Given the description of an element on the screen output the (x, y) to click on. 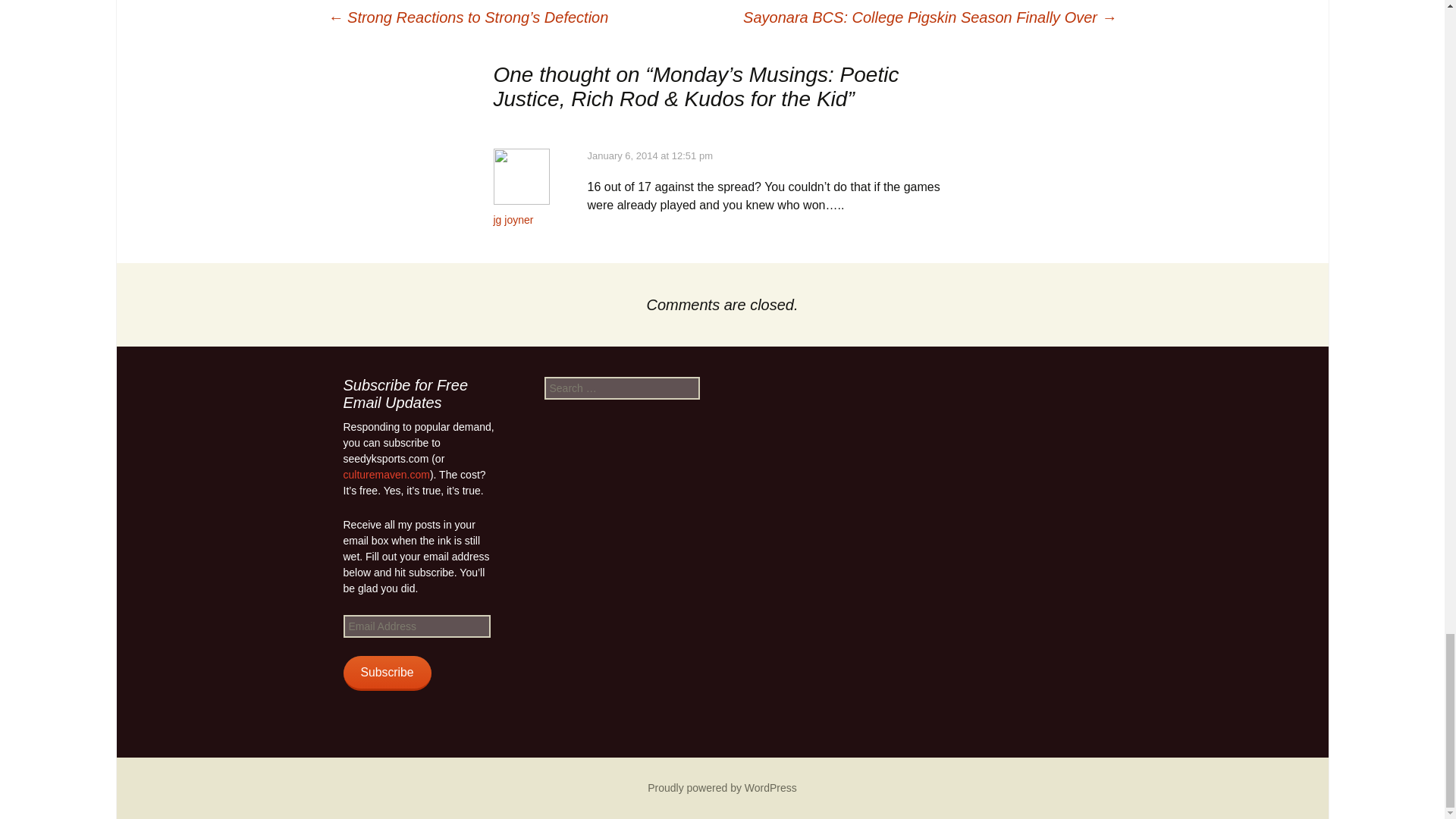
culturemaven.com (385, 474)
Subscribe (386, 673)
Proudly powered by WordPress (721, 787)
January 6, 2014 at 12:51 pm (649, 155)
